Given the description of an element on the screen output the (x, y) to click on. 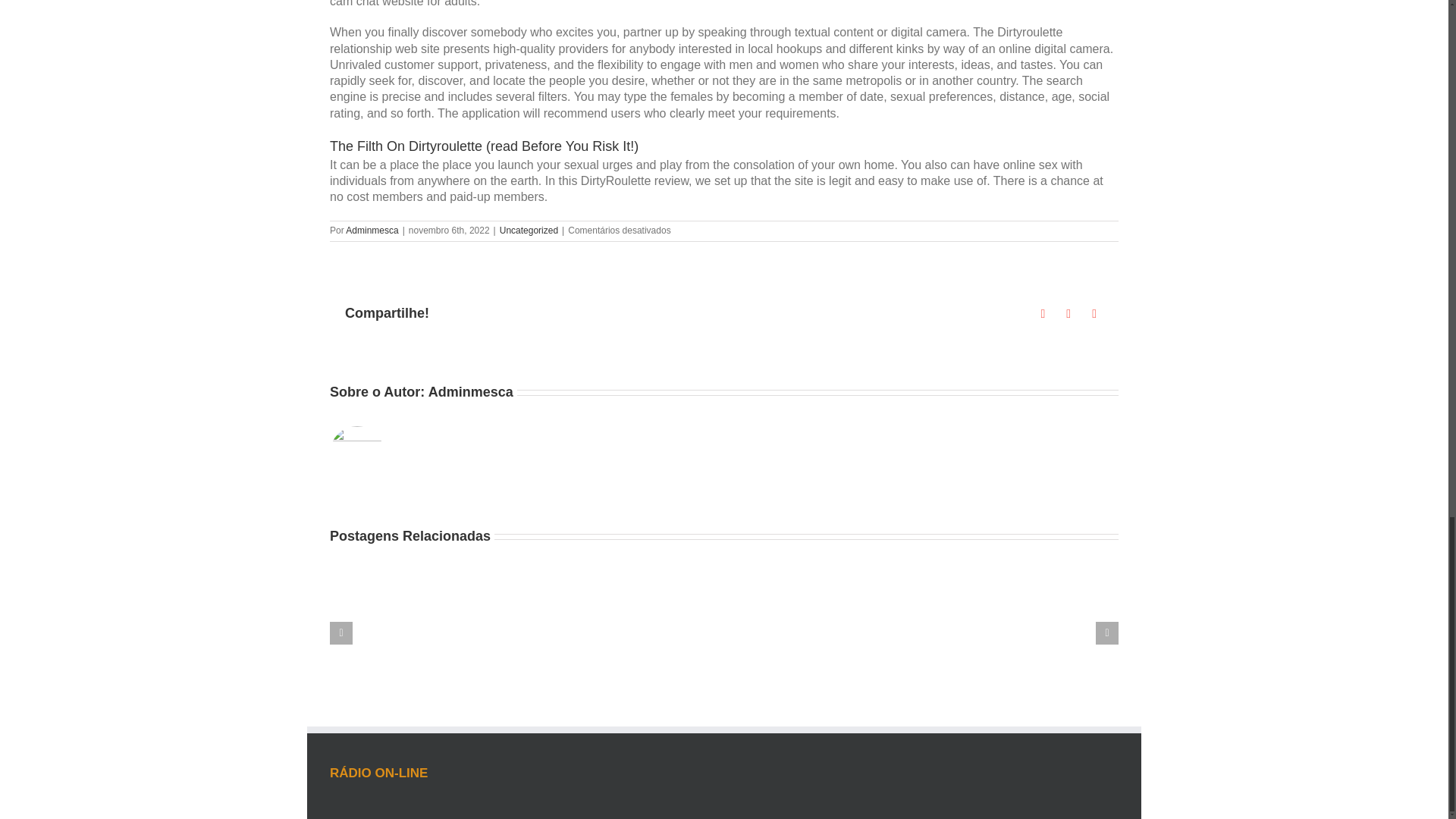
Posts de Adminmesca (470, 391)
Adminmesca (371, 230)
Adminmesca (470, 391)
Uncategorized (528, 230)
Posts de Adminmesca (371, 230)
